Given the description of an element on the screen output the (x, y) to click on. 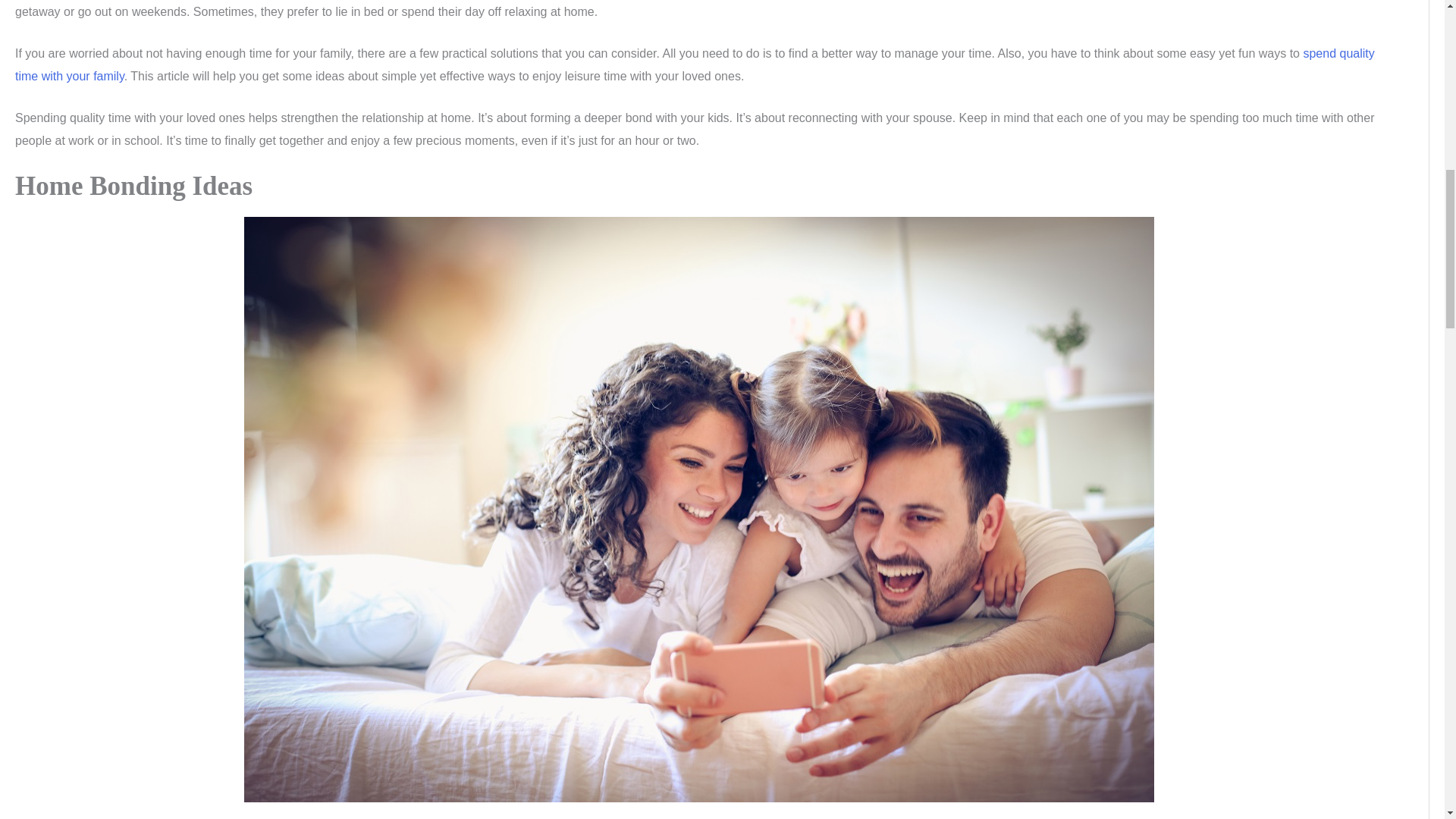
spend quality time with your family (694, 64)
Pew Research Center (694, 64)
